Given the description of an element on the screen output the (x, y) to click on. 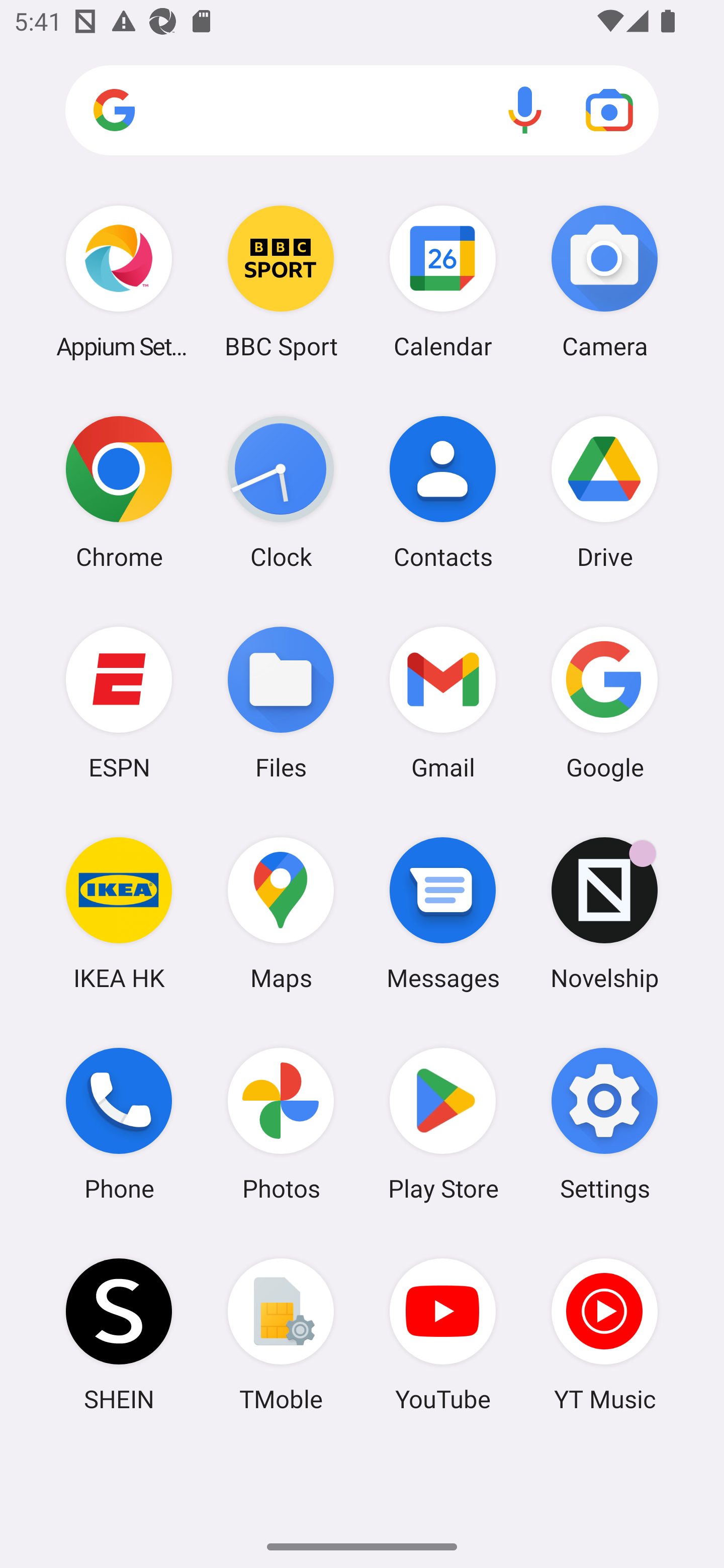
Search apps, web and more (361, 110)
Voice search (524, 109)
Google Lens (608, 109)
Appium Settings (118, 281)
BBC Sport (280, 281)
Calendar (443, 281)
Camera (604, 281)
Chrome (118, 492)
Clock (280, 492)
Contacts (443, 492)
Drive (604, 492)
ESPN (118, 702)
Files (280, 702)
Gmail (443, 702)
Google (604, 702)
IKEA HK (118, 913)
Maps (280, 913)
Messages (443, 913)
Novelship Novelship has 1 notification (604, 913)
Phone (118, 1124)
Photos (280, 1124)
Play Store (443, 1124)
Settings (604, 1124)
SHEIN (118, 1334)
TMoble (280, 1334)
YouTube (443, 1334)
YT Music (604, 1334)
